Given the description of an element on the screen output the (x, y) to click on. 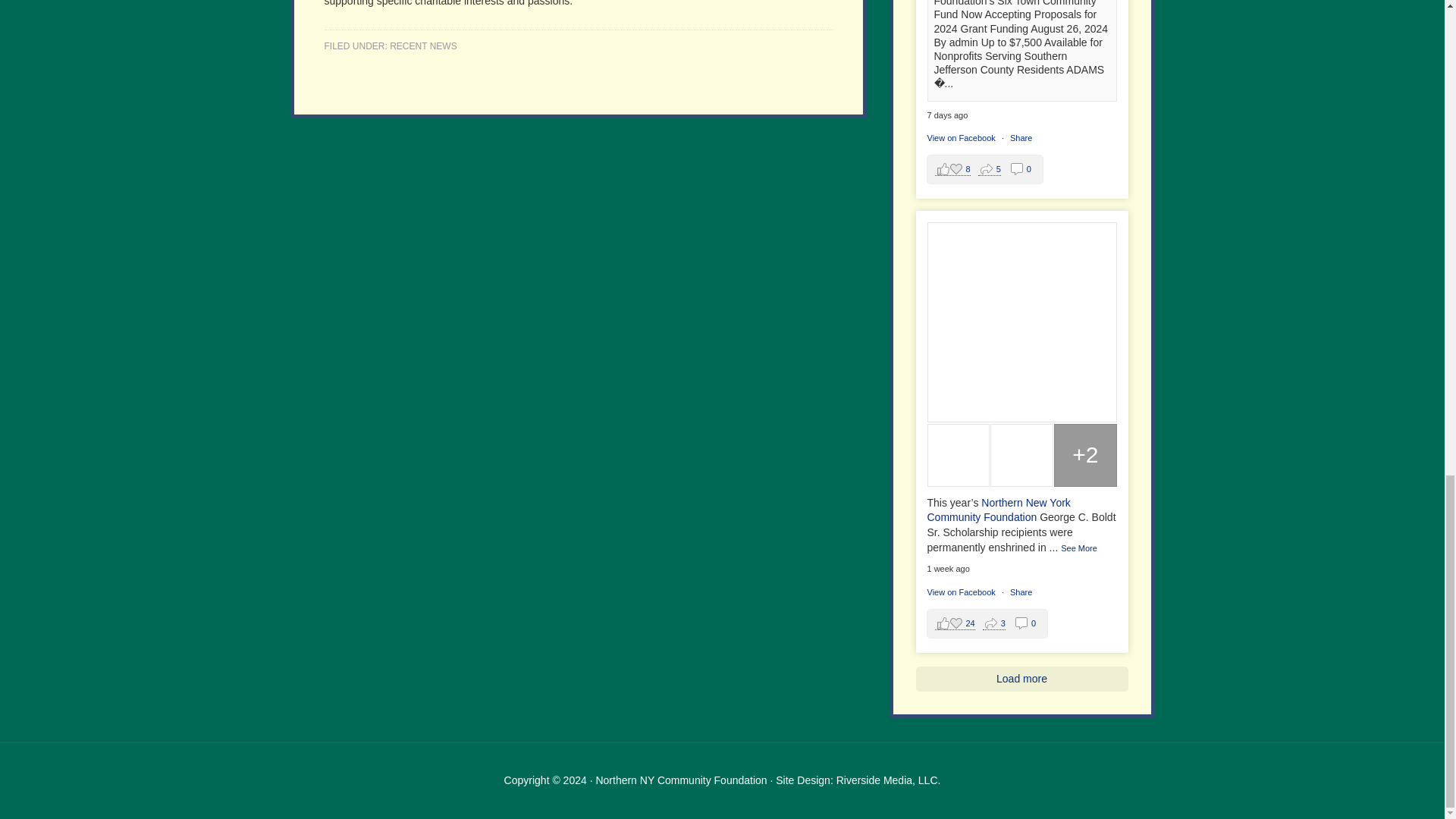
Share (1021, 137)
View on Facebook (960, 592)
Share (1021, 592)
View on Facebook (960, 137)
